Given the description of an element on the screen output the (x, y) to click on. 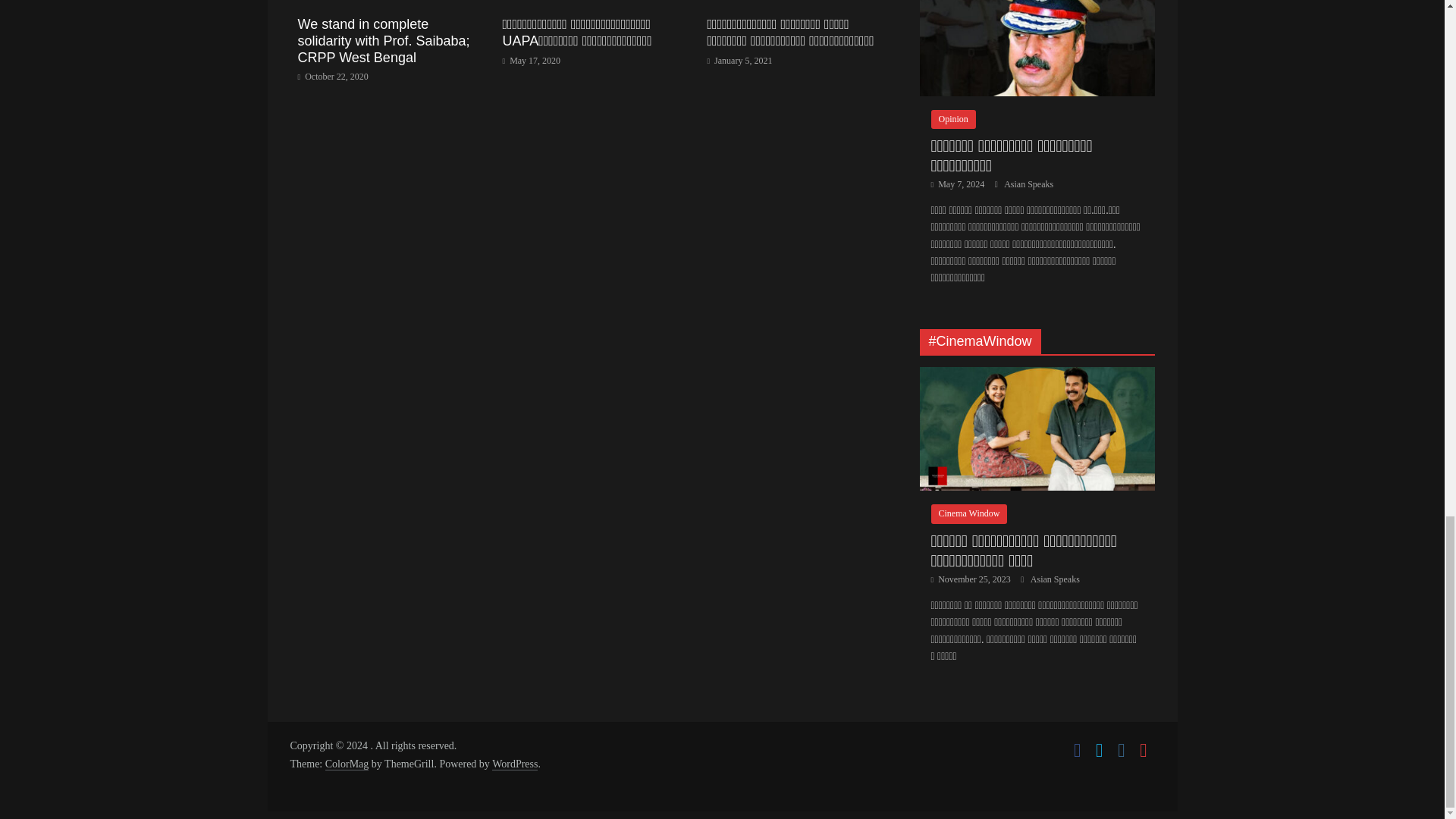
9:51 am (531, 60)
May 17, 2020 (531, 60)
October 22, 2020 (332, 76)
11:58 am (332, 76)
January 5, 2021 (738, 60)
4:52 am (738, 60)
